Given the description of an element on the screen output the (x, y) to click on. 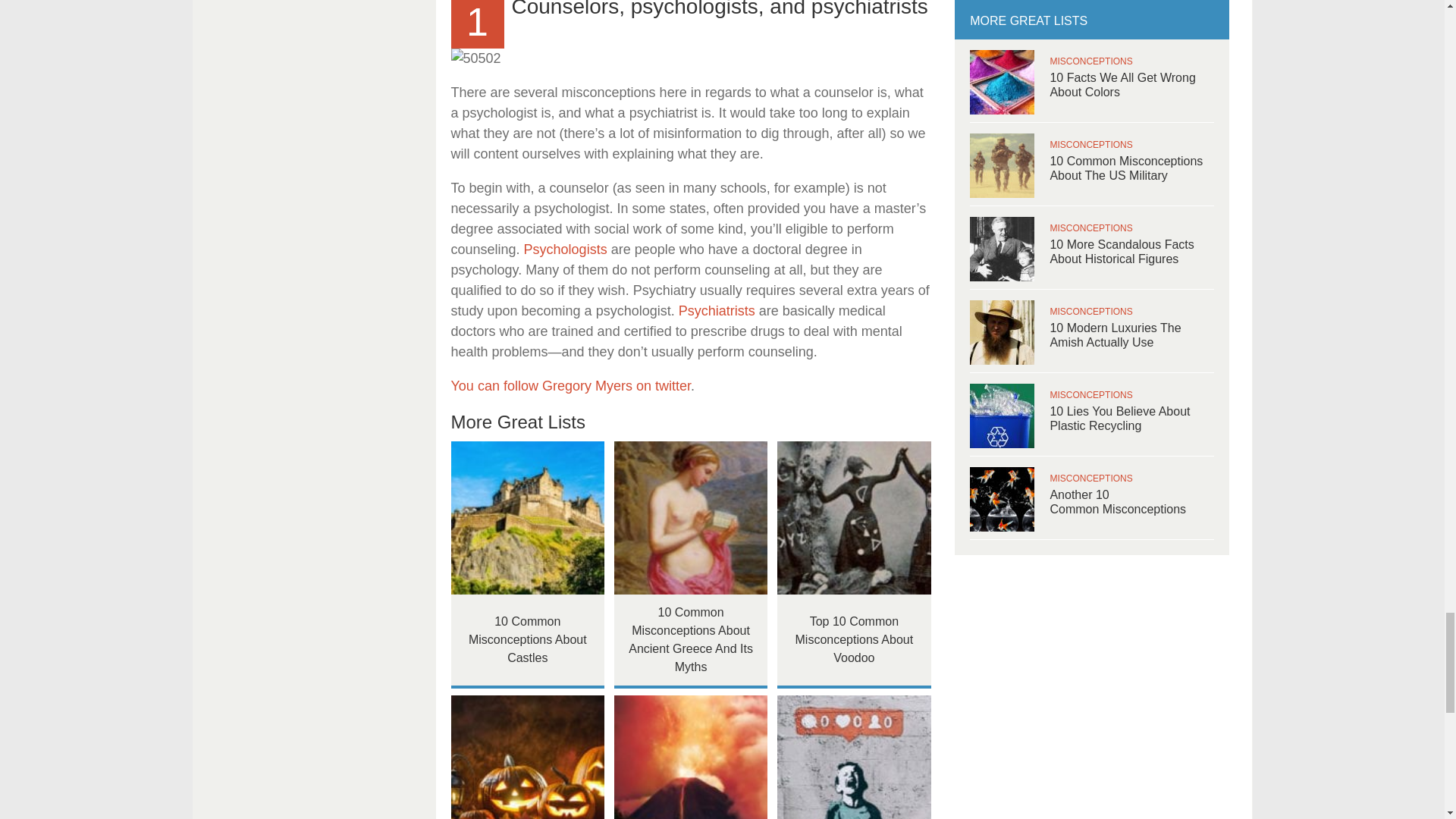
10 Common Misconceptions About Castles (526, 518)
Top 10 Common Misconceptions About Voodoo (854, 518)
10 Common Misconceptions About Ancient Greece And Its Myths (691, 518)
